Given the description of an element on the screen output the (x, y) to click on. 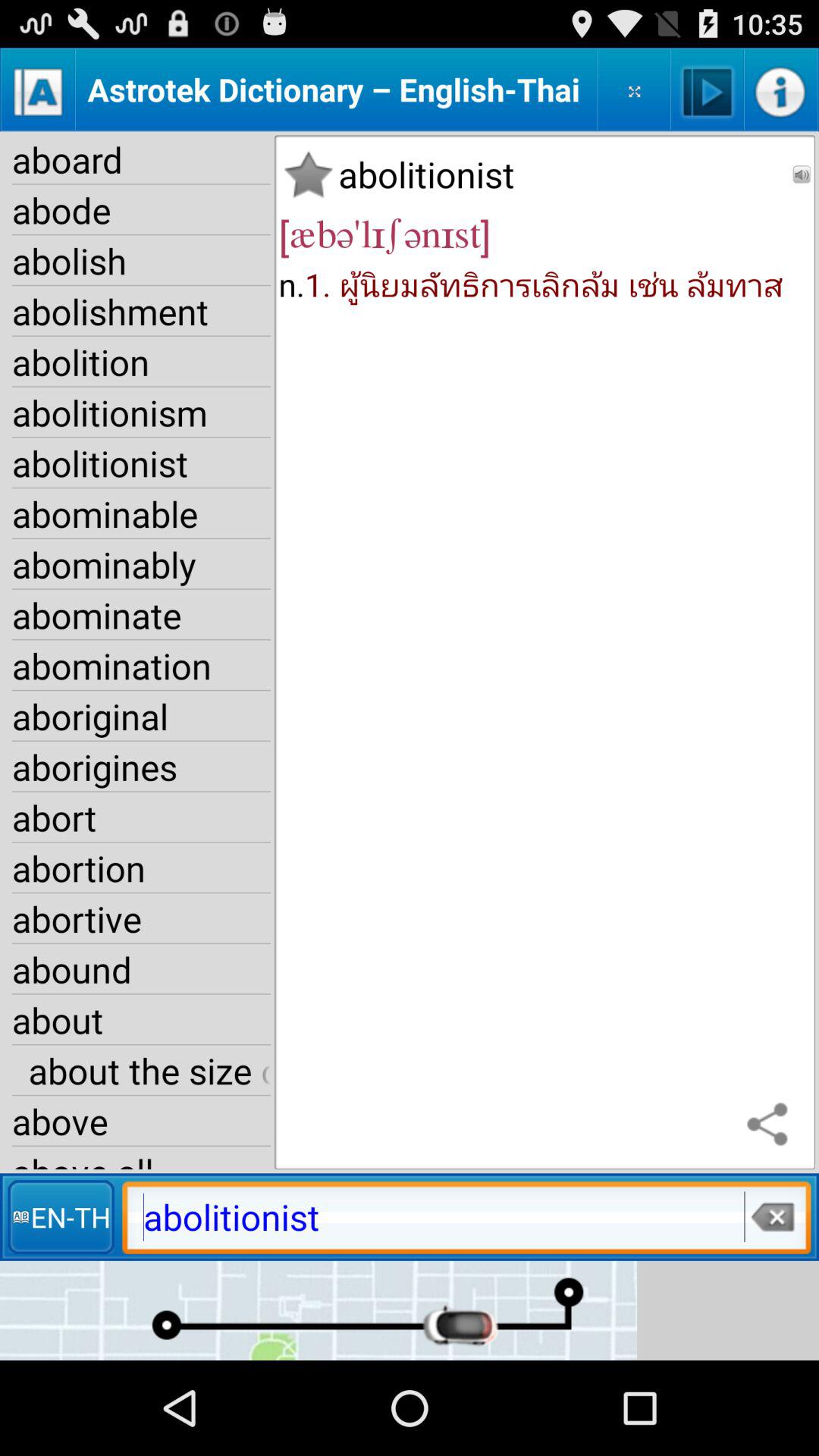
press app next to abolitionist item (801, 174)
